Given the description of an element on the screen output the (x, y) to click on. 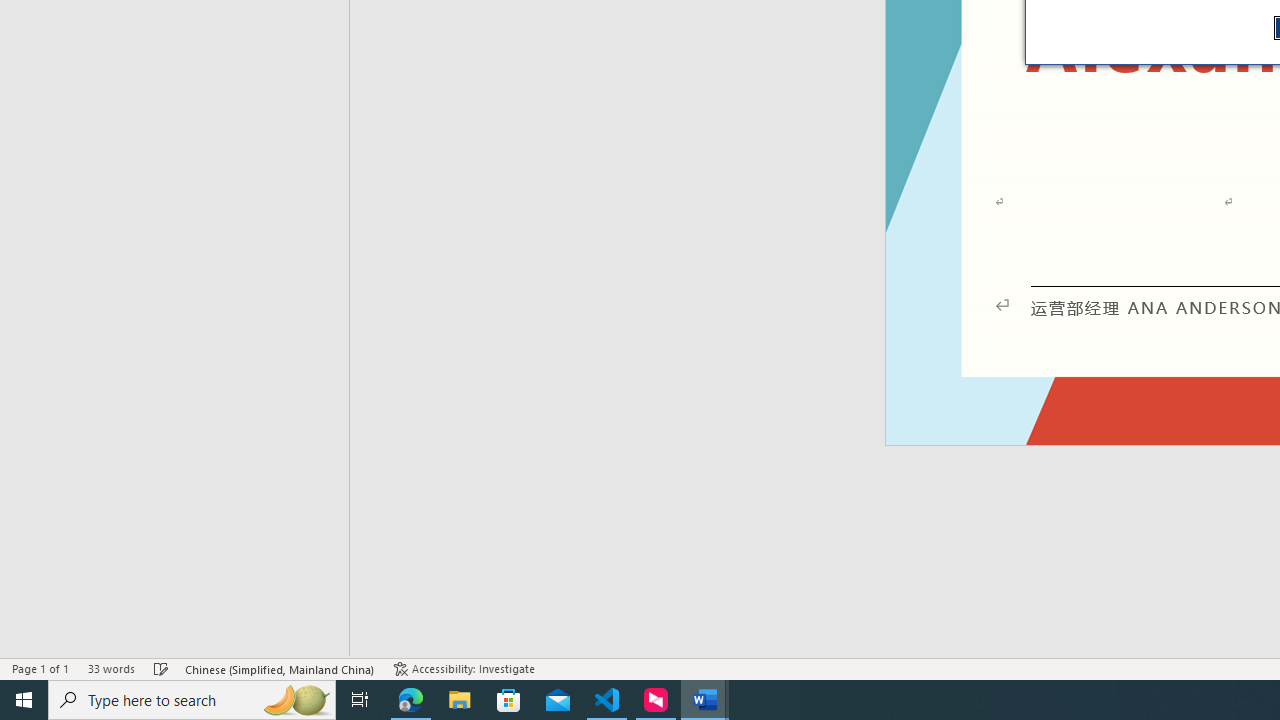
Page Number Page 1 of 1 (39, 668)
Microsoft Edge - 1 running window (411, 699)
Language Chinese (Simplified, Mainland China) (279, 668)
Task View (359, 699)
Accessibility Checker Accessibility: Investigate (464, 668)
Word - 2 running windows (704, 699)
Spelling and Grammar Check Checking (161, 668)
Visual Studio Code - 1 running window (607, 699)
Type here to search (191, 699)
File Explorer (460, 699)
Start (24, 699)
Search highlights icon opens search home window (295, 699)
Microsoft Store (509, 699)
